Given the description of an element on the screen output the (x, y) to click on. 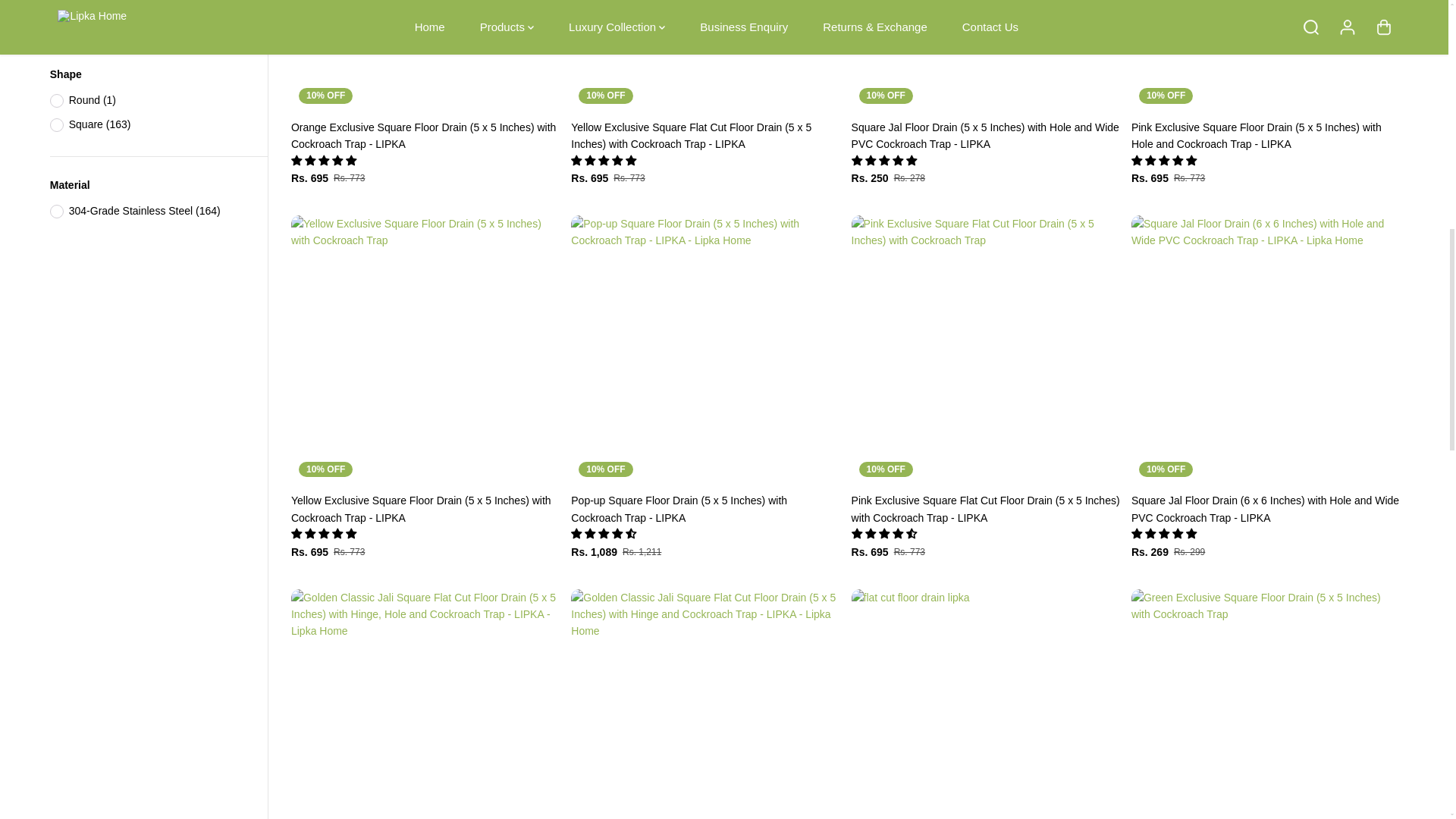
304-Grade Stainless Steel (56, 211)
Floor Drain without Trap (56, 14)
Round (56, 100)
Square (56, 124)
